Given the description of an element on the screen output the (x, y) to click on. 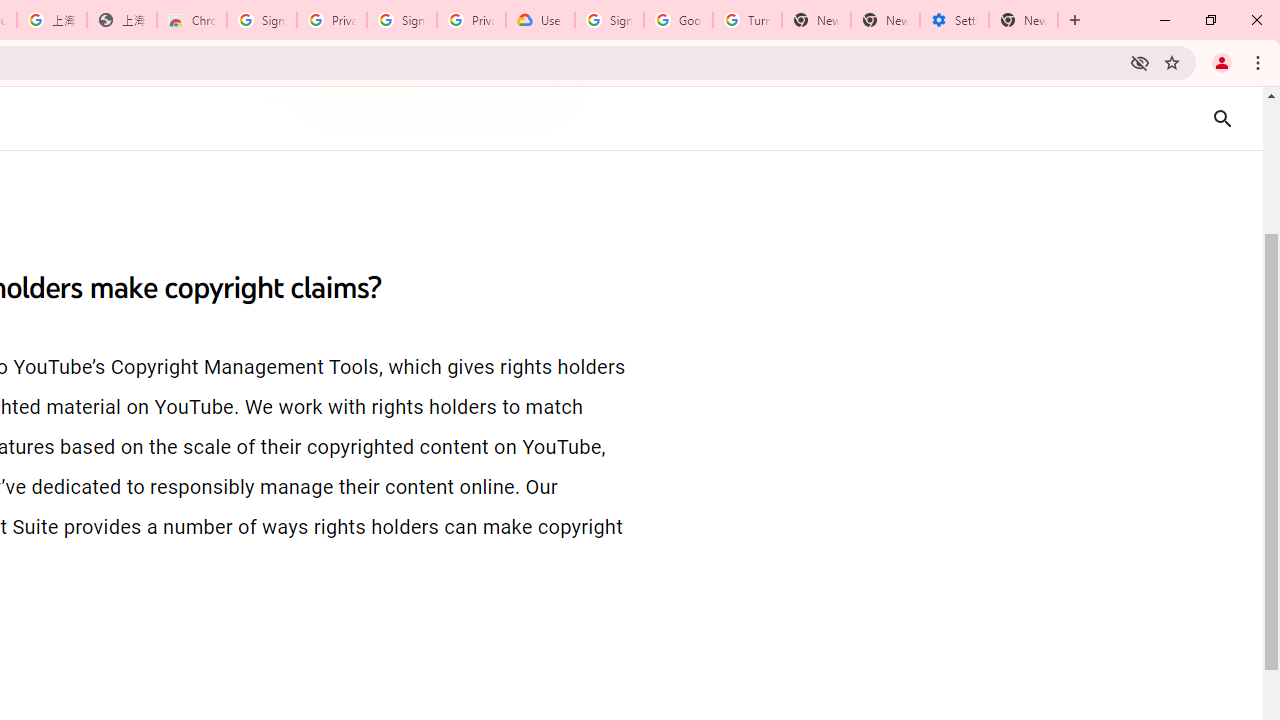
New Tab (1023, 20)
Close (1256, 20)
Turn cookies on or off - Computer - Google Account Help (747, 20)
You (1221, 62)
Sign in - Google Accounts (608, 20)
Bookmark this tab (1171, 62)
Google Account Help (677, 20)
Search (1248, 117)
New Tab (1075, 20)
Sign in - Google Accounts (261, 20)
Third-party cookies blocked (1139, 62)
